Given the description of an element on the screen output the (x, y) to click on. 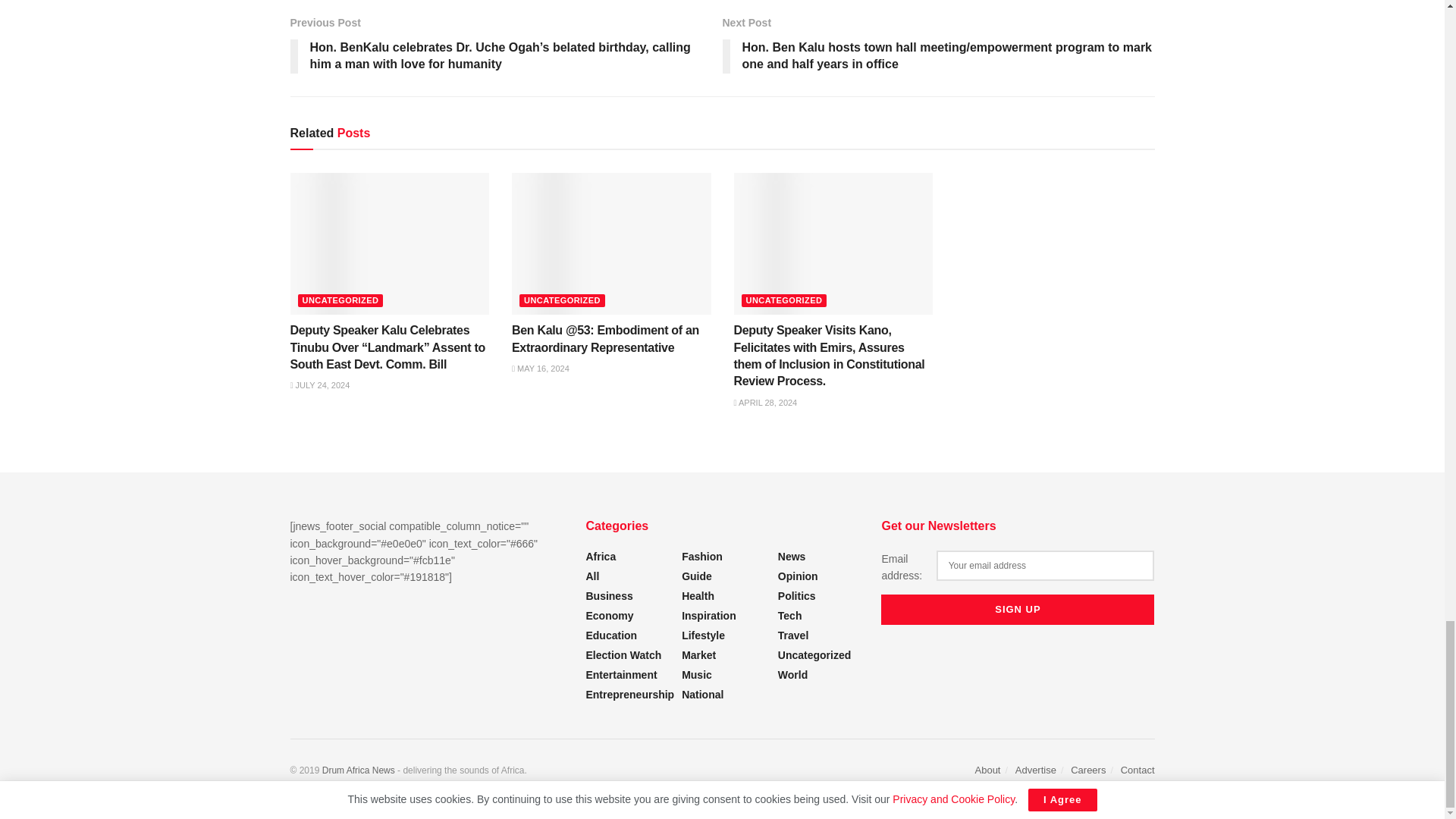
Drum Africa News (357, 769)
Sign up (1017, 609)
